Given the description of an element on the screen output the (x, y) to click on. 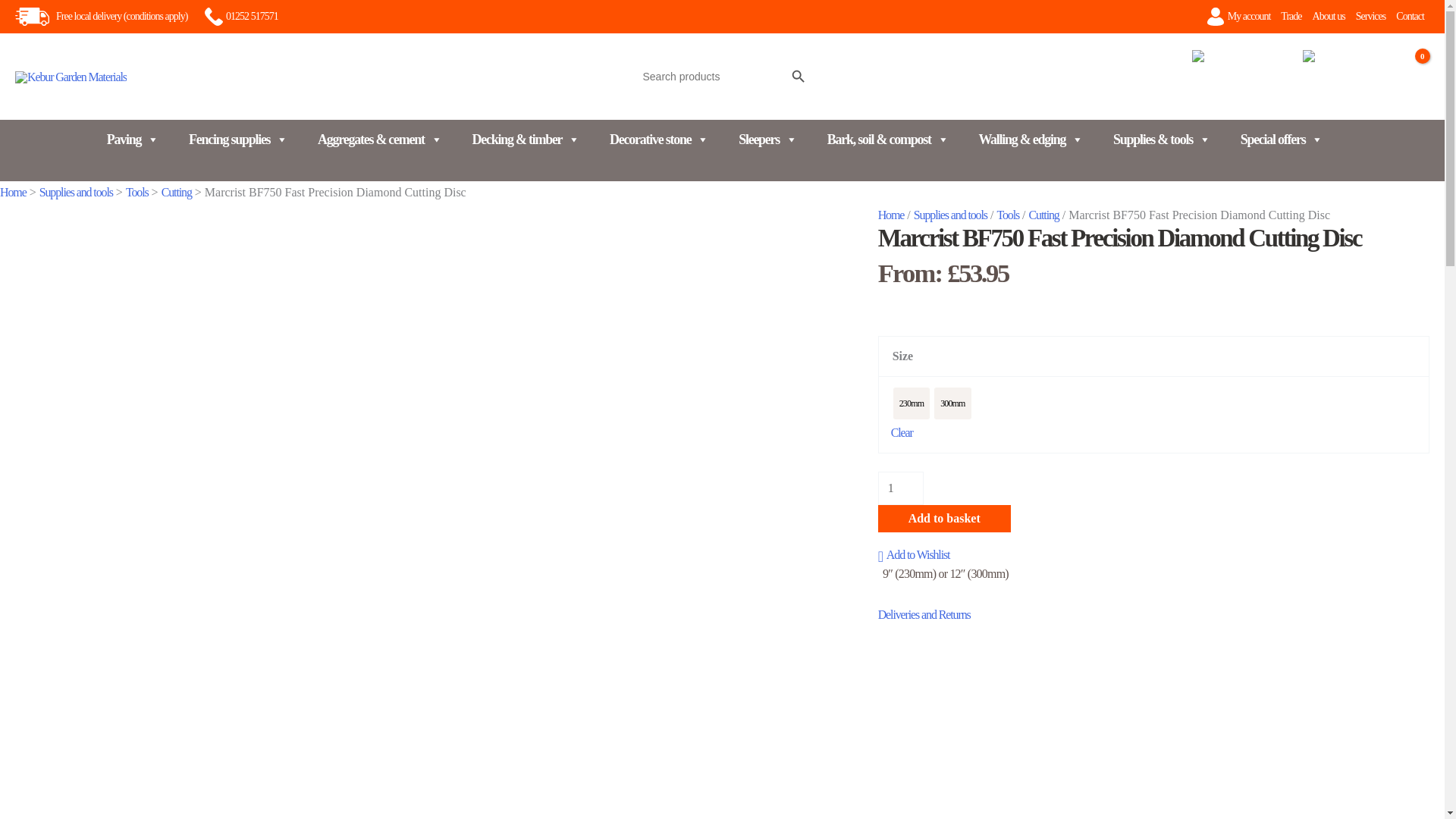
My account (1249, 16)
Search Button (797, 76)
230mm (910, 403)
Trade (1290, 16)
Contact (1409, 16)
01252 517571 (241, 16)
1 (900, 488)
About us (1329, 16)
300mm (951, 403)
Wishlist (1326, 90)
Services (1371, 16)
Paving (132, 139)
